Given the description of an element on the screen output the (x, y) to click on. 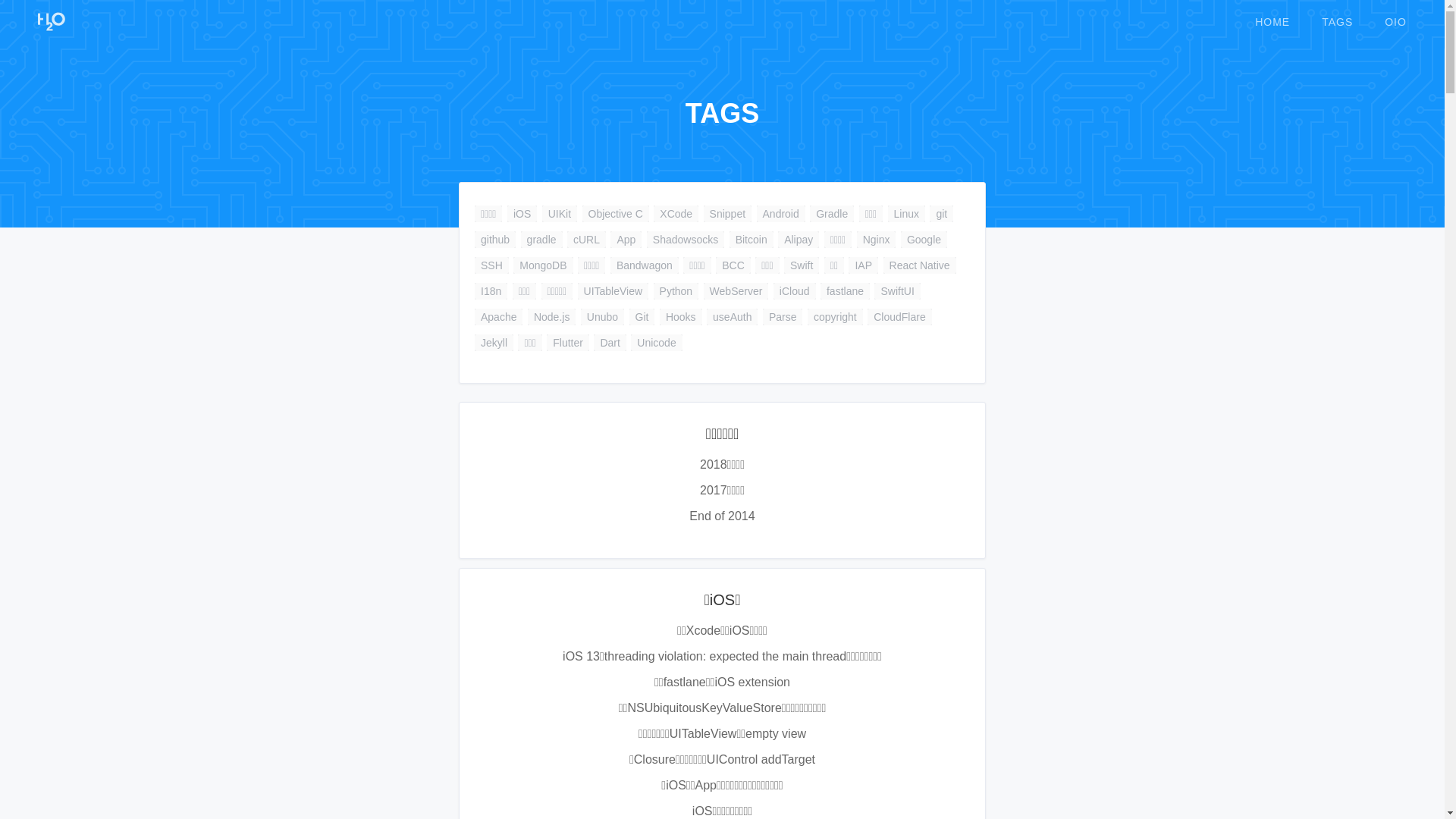
BCC Element type: text (732, 265)
Parse Element type: text (782, 316)
Hooks Element type: text (680, 316)
useAuth Element type: text (731, 316)
cURL Element type: text (586, 239)
React Native Element type: text (919, 265)
XCode Element type: text (675, 213)
Apache Element type: text (498, 316)
HOME Element type: text (1272, 21)
IAP Element type: text (863, 265)
iCloud Element type: text (794, 290)
Git Element type: text (642, 316)
gradle Element type: text (541, 239)
Linux Element type: text (906, 213)
SSH Element type: text (491, 265)
Gradle Element type: text (831, 213)
TAGS Element type: text (1336, 21)
Alipay Element type: text (798, 239)
git Element type: text (941, 213)
Unubo Element type: text (602, 316)
Bandwagon Element type: text (644, 265)
I18n Element type: text (490, 290)
CloudFlare Element type: text (899, 316)
Unicode Element type: text (655, 342)
Snippet Element type: text (727, 213)
Google Element type: text (923, 239)
fastlane Element type: text (844, 290)
SwiftUI Element type: text (896, 290)
Nginx Element type: text (876, 239)
Shadowsocks Element type: text (685, 239)
Dart Element type: text (609, 342)
Jekyll Element type: text (493, 342)
UITableView Element type: text (613, 290)
github Element type: text (494, 239)
Swift Element type: text (801, 265)
MongoDB Element type: text (542, 265)
iOS Element type: text (521, 213)
Android Element type: text (780, 213)
Bitcoin Element type: text (751, 239)
WebServer Element type: text (735, 290)
Objective C Element type: text (615, 213)
Python Element type: text (676, 290)
Node.js Element type: text (551, 316)
Flutter Element type: text (567, 342)
UIKit Element type: text (559, 213)
End of 2014 Element type: text (721, 516)
App Element type: text (625, 239)
OIO Element type: text (1395, 21)
copyright Element type: text (834, 316)
